Given the description of an element on the screen output the (x, y) to click on. 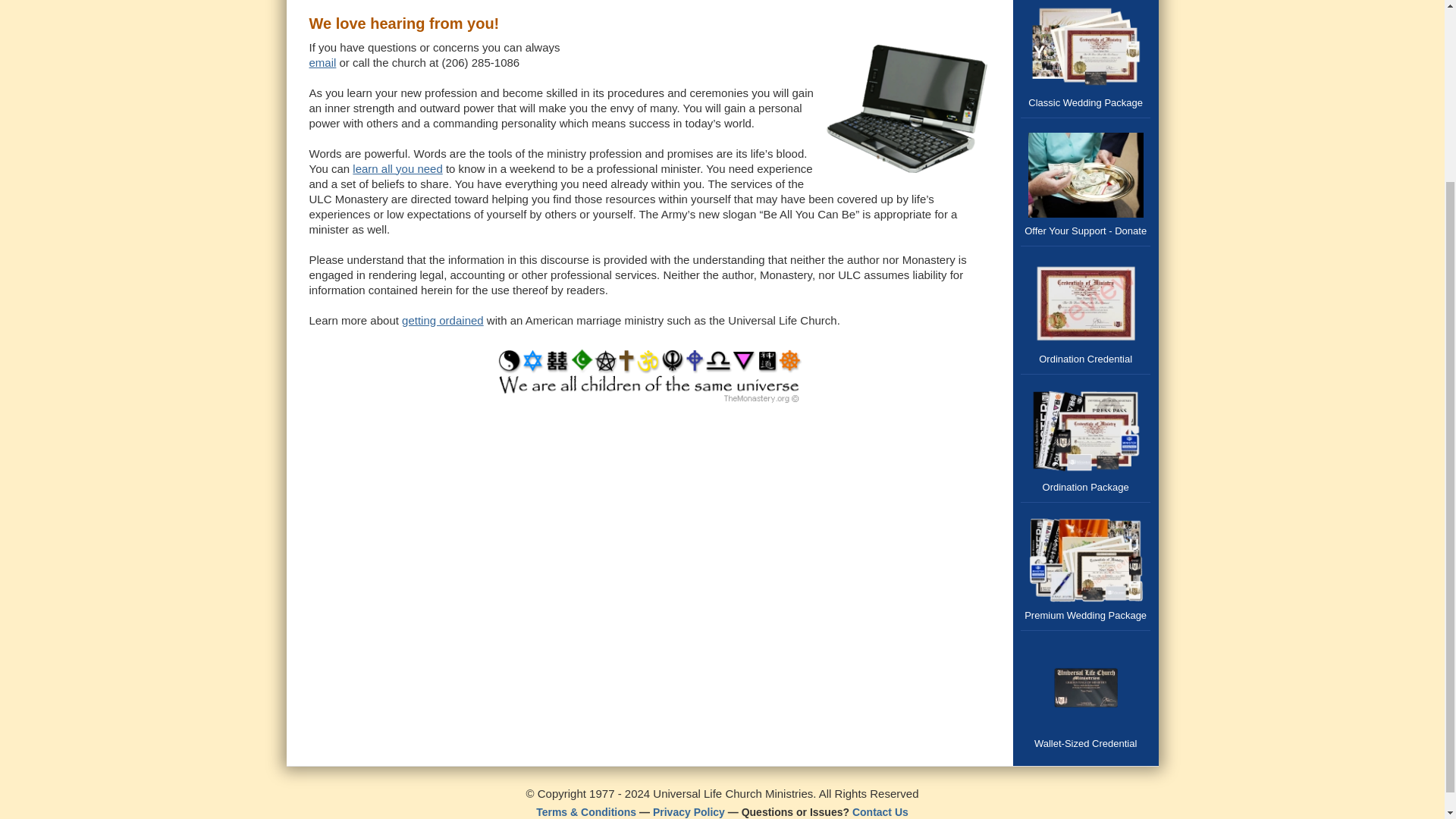
Universal Life Church Guide to Divinity (649, 377)
Classic Wedding Package (1085, 59)
Offer Your Support - Donate (1085, 181)
Ordination Package (1085, 438)
getting ordained (442, 319)
Wallet-Sized Credential (1085, 694)
Ordination Credential (1085, 309)
Premium Wedding Package (1085, 565)
Privacy Policy (688, 811)
